Given the description of an element on the screen output the (x, y) to click on. 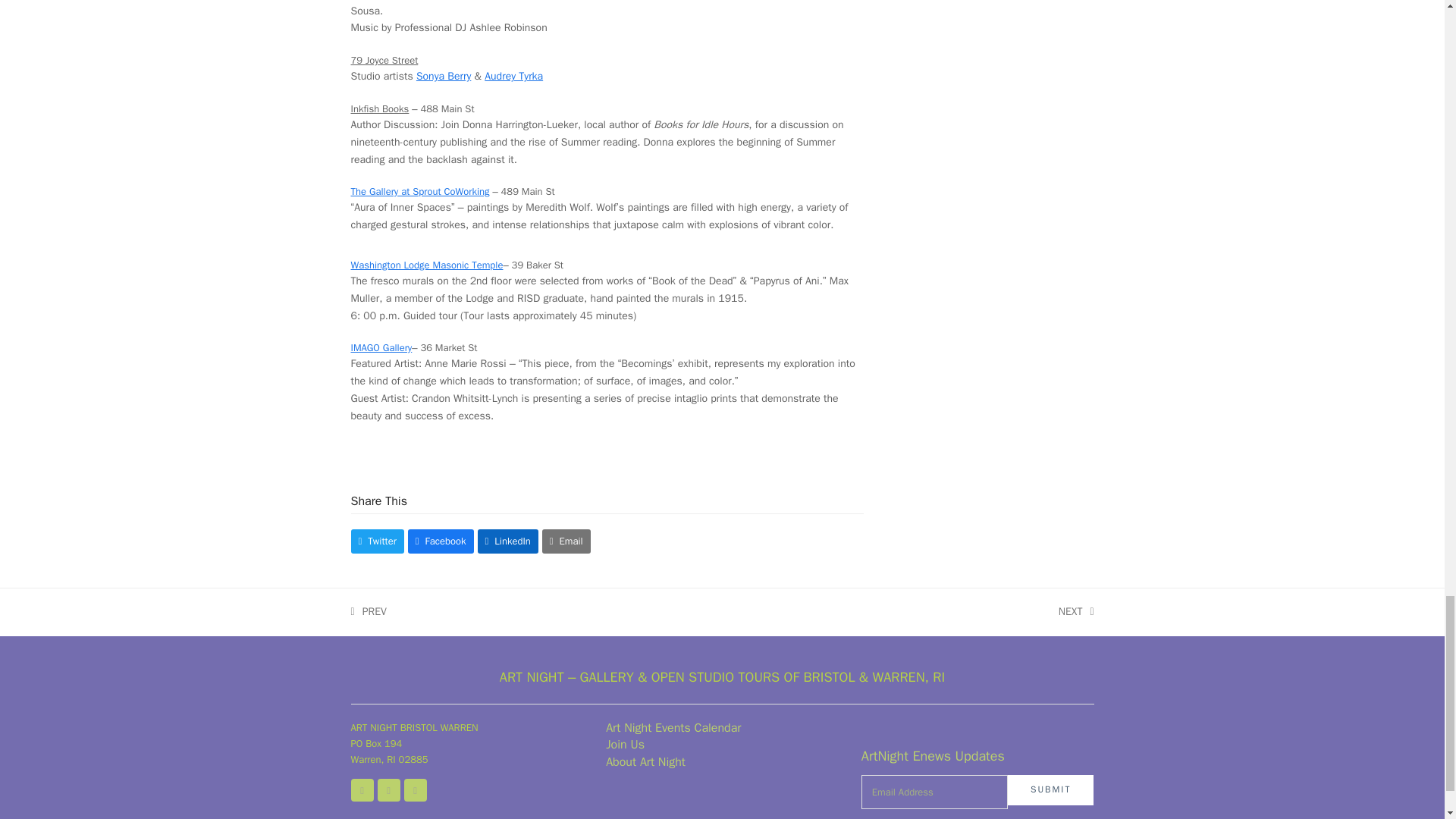
Facebook (361, 789)
Instagram (388, 789)
YouTube (414, 789)
